Given the description of an element on the screen output the (x, y) to click on. 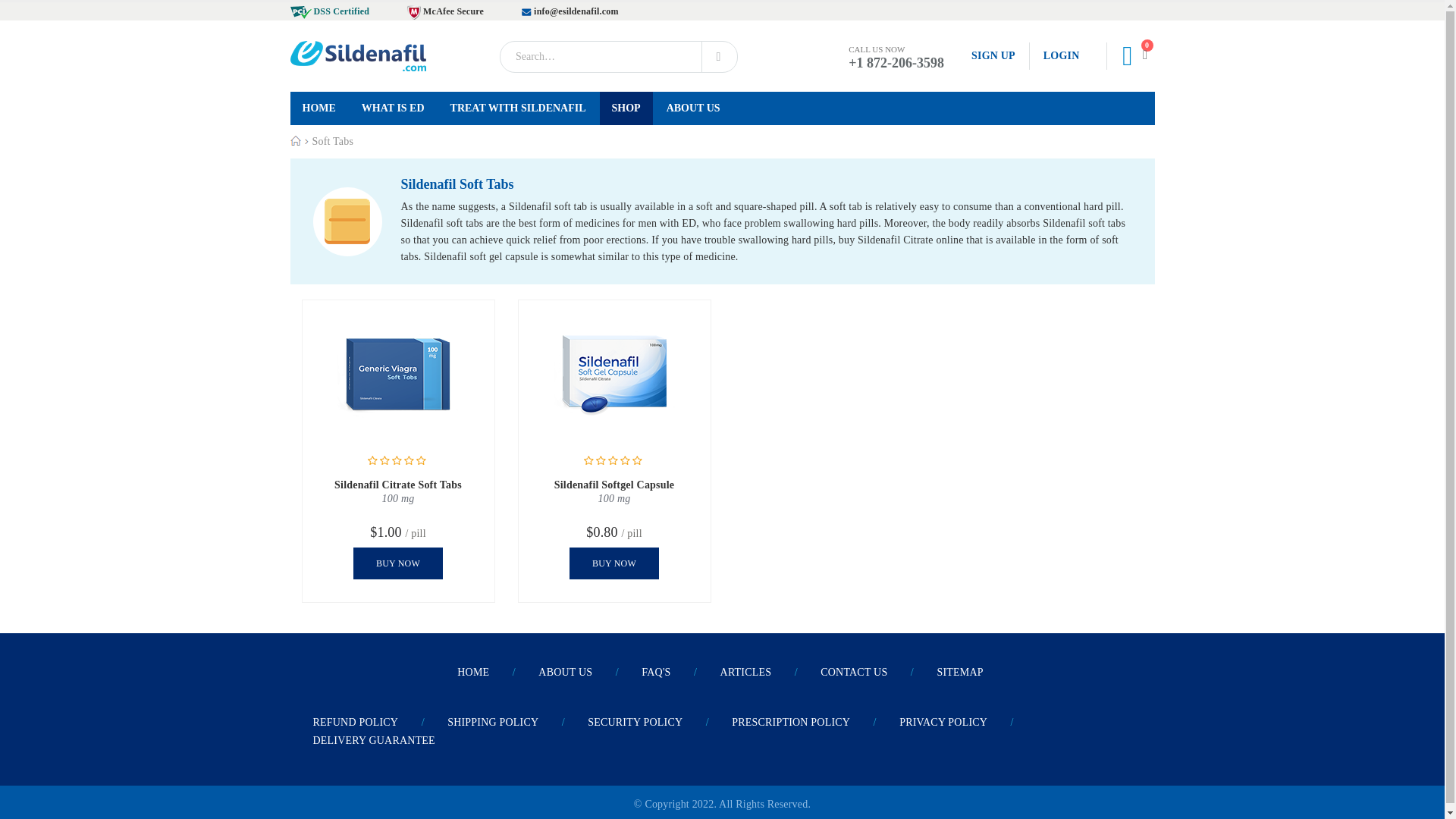
SIGN UP (993, 55)
WHAT IS ED (392, 108)
HOME (318, 108)
Search (718, 55)
McAfee Secure (445, 10)
 -  (357, 55)
TREAT WITH SILDENAFIL (518, 108)
DSS Certified (329, 10)
SHOP (625, 108)
LOGIN (1054, 55)
